Given the description of an element on the screen output the (x, y) to click on. 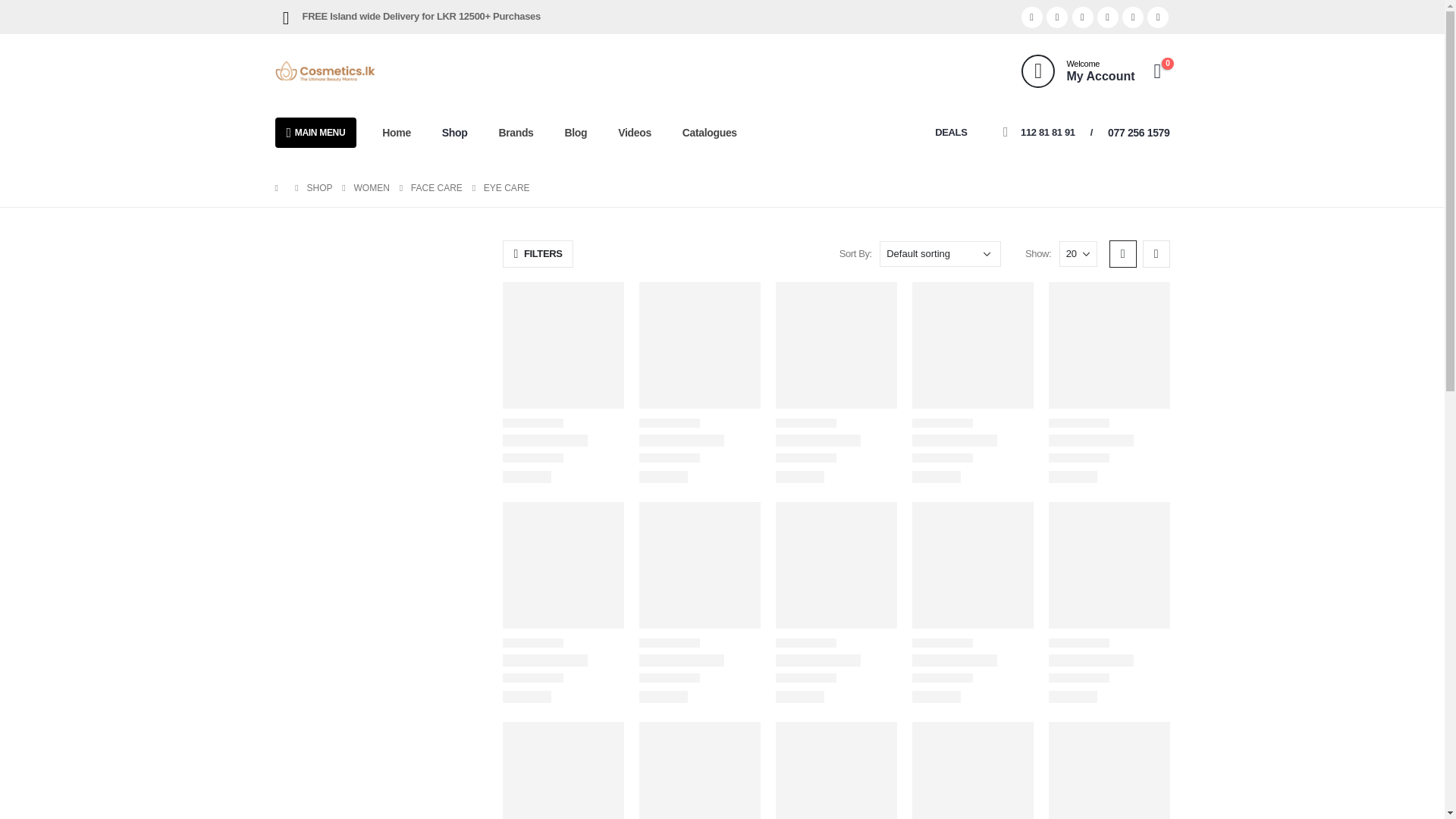
Cosmetics.lk - Cosmetics Sri Lanka (324, 70)
Tiktok (1158, 16)
Pinterest (1056, 16)
Grid View (1121, 253)
Facebook (1078, 70)
Youtube (1032, 16)
My Account (1082, 16)
Instagram (1078, 70)
LinkedIn (1107, 16)
